Given the description of an element on the screen output the (x, y) to click on. 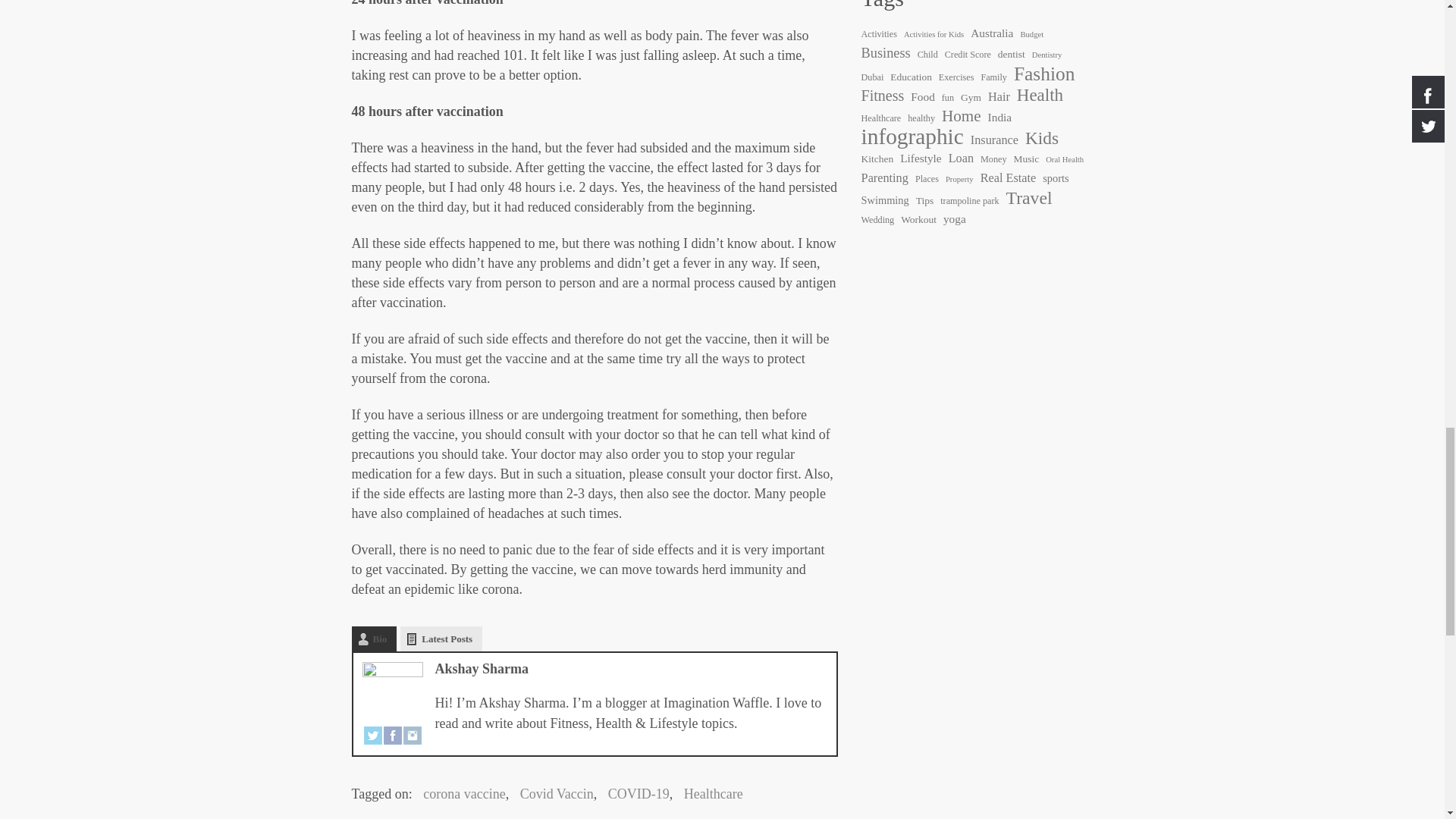
Facebook (392, 736)
Instagram (412, 736)
Latest Posts (440, 638)
Bio (374, 638)
Twitter (372, 736)
